Given the description of an element on the screen output the (x, y) to click on. 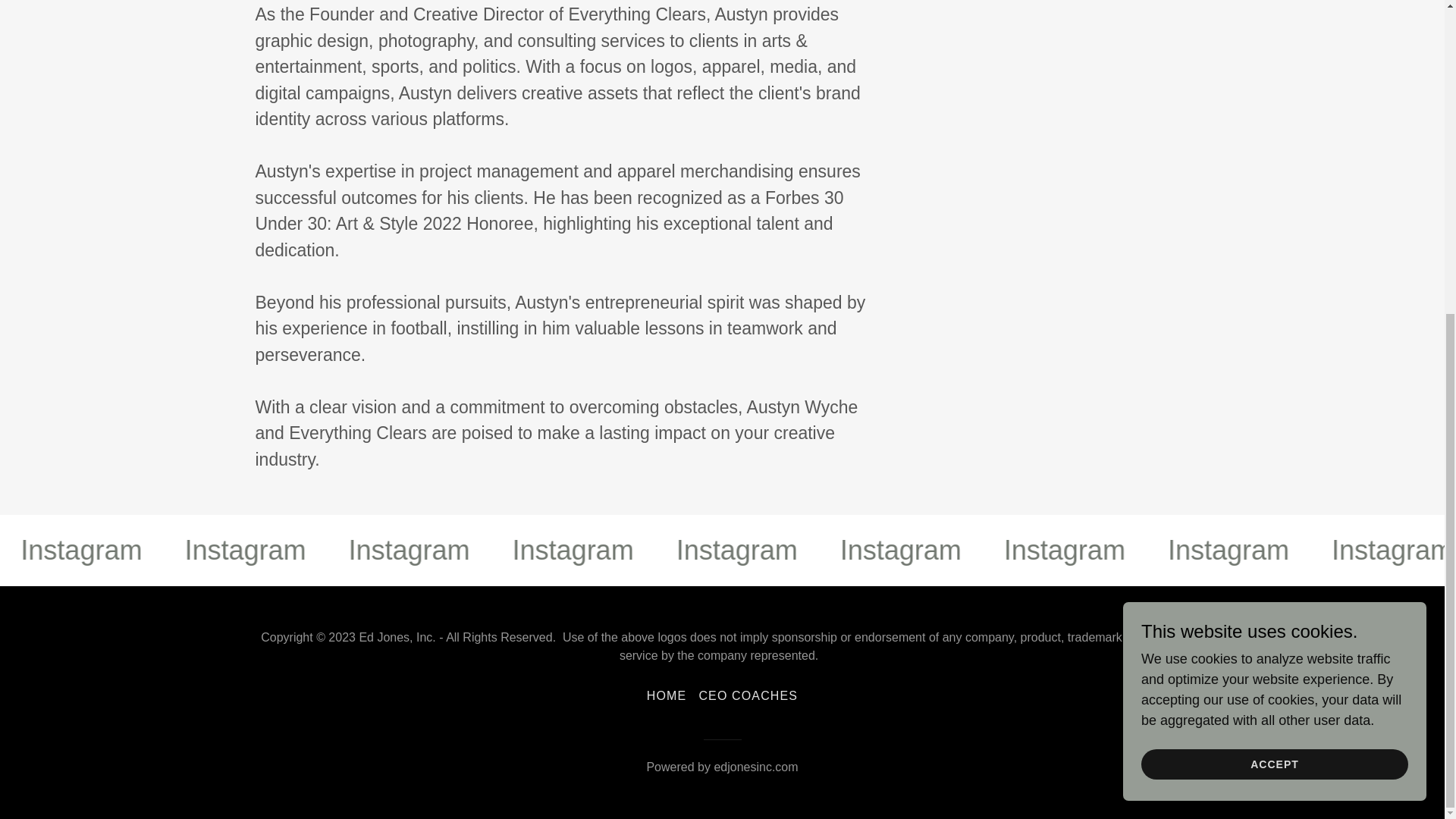
CEO COACHES (748, 696)
ACCEPT (1274, 263)
HOME (666, 696)
